Given the description of an element on the screen output the (x, y) to click on. 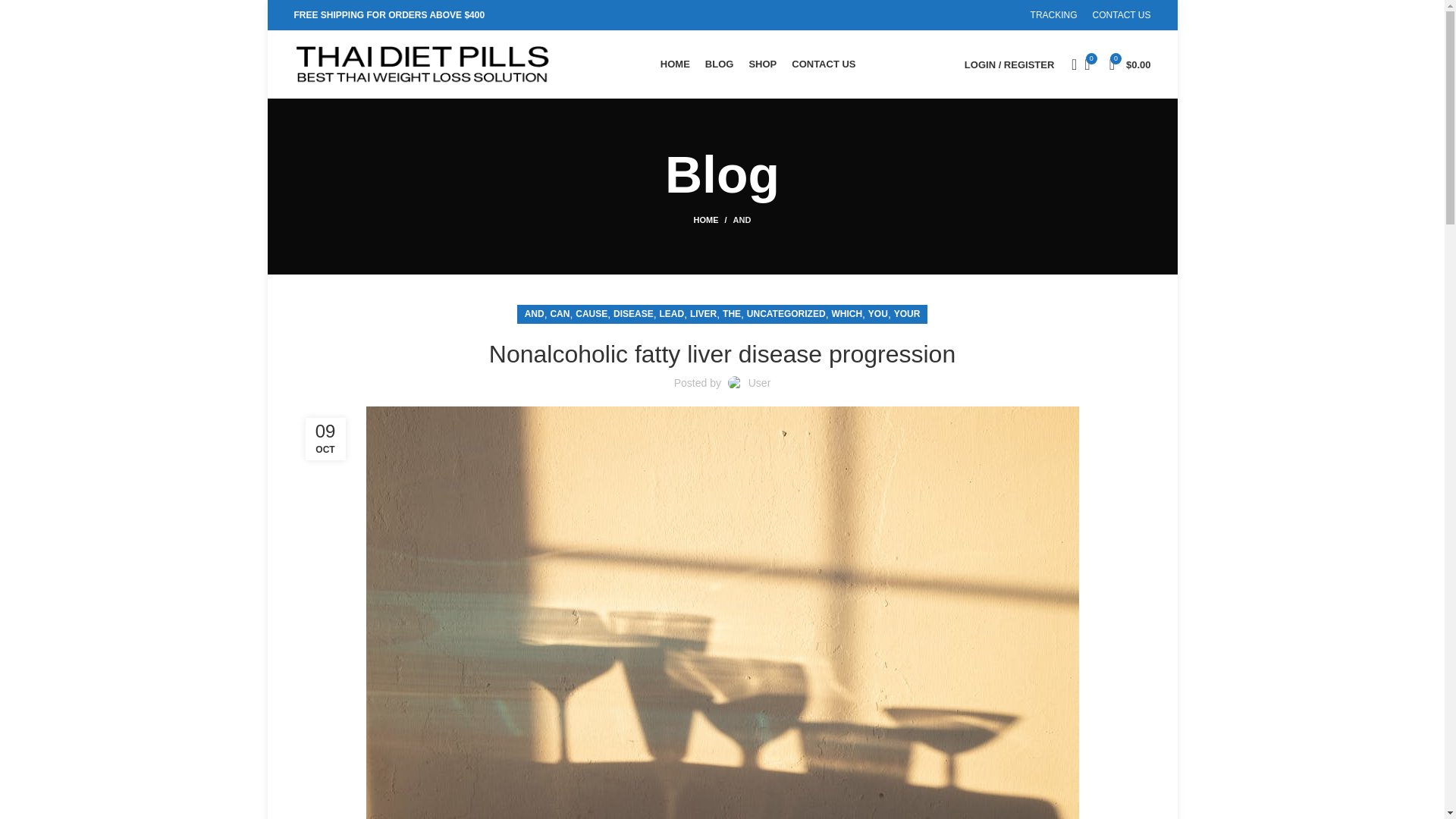
AND (742, 219)
TRACKING (1053, 15)
YOUR (906, 313)
HOME (675, 64)
UNCATEGORIZED (785, 313)
User (759, 382)
LIVER (703, 313)
LEAD (671, 313)
Track Your Order (1053, 15)
CAN (559, 313)
